Given the description of an element on the screen output the (x, y) to click on. 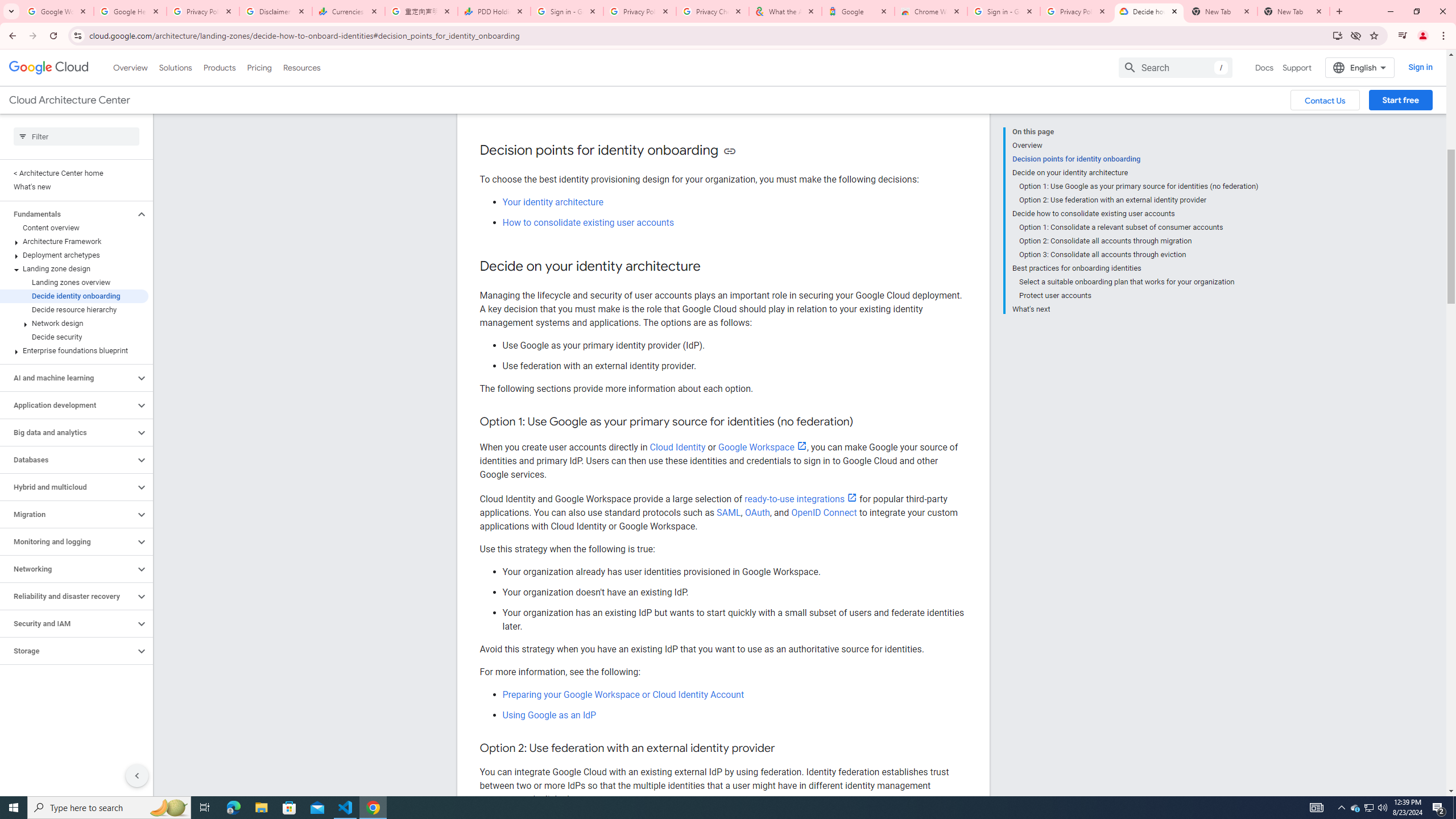
Big data and analytics (67, 432)
Chrome Web Store - Color themes by Chrome (930, 11)
Hybrid and multicloud (67, 486)
Hide side navigation (136, 775)
Option 1: Consolidate a relevant subset of consumer accounts (1138, 227)
Option 2: Use federation with an external identity provider (1138, 200)
Decide identity onboarding (74, 296)
Deployment archetypes (74, 255)
Cloud Identity (677, 447)
